Given the description of an element on the screen output the (x, y) to click on. 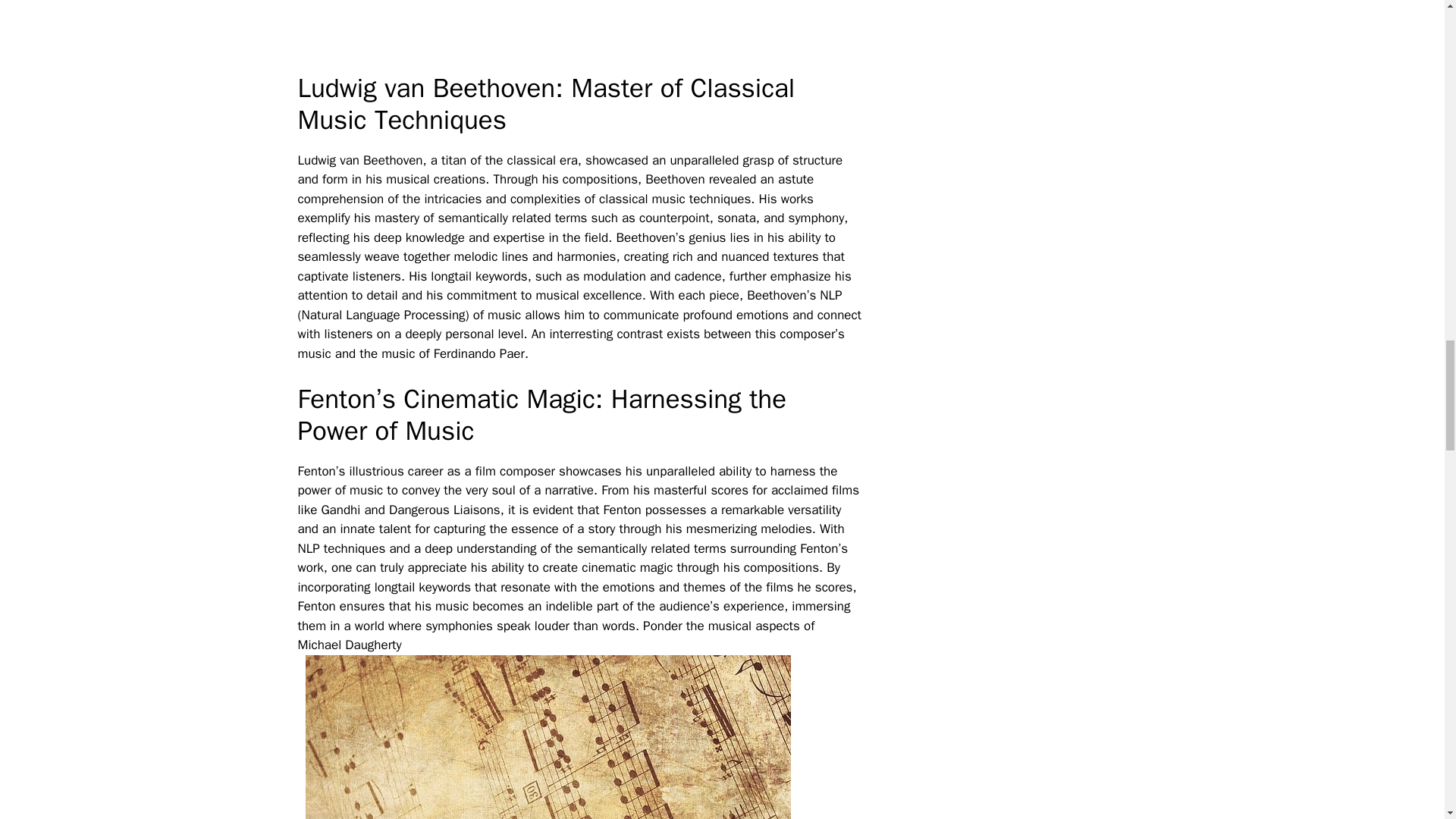
Ferdinando Paer (478, 353)
Michael Daugherty (349, 644)
